Given the description of an element on the screen output the (x, y) to click on. 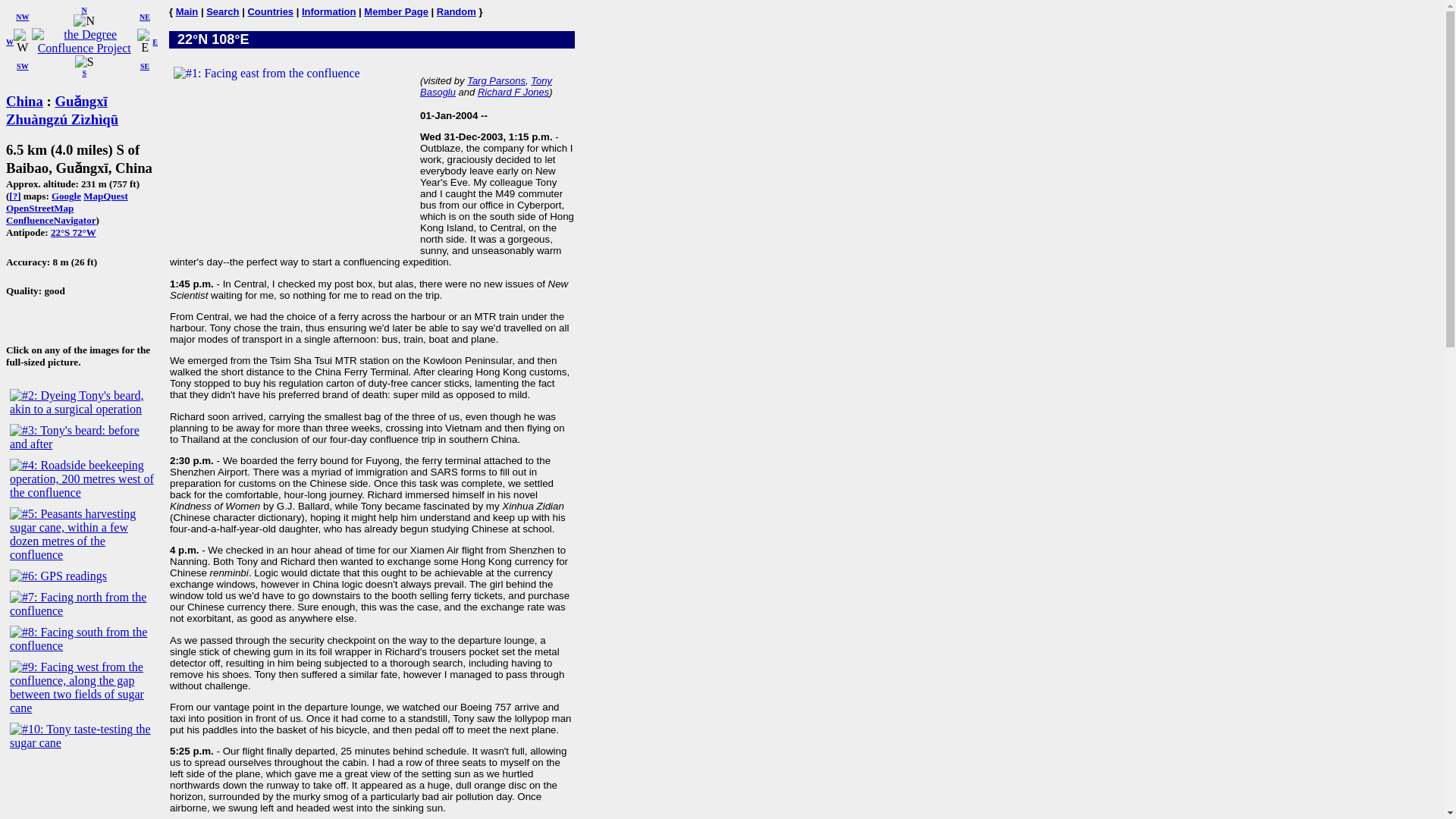
N (84, 20)
China (24, 100)
Countries (270, 11)
S (84, 61)
NW (22, 17)
SW (22, 66)
Information (328, 11)
SE (144, 66)
Random (456, 11)
Member Page (396, 11)
NE (144, 17)
MapQuest (105, 195)
ConfluenceNavigator (50, 220)
Search (222, 11)
OpenStreetMap (39, 207)
